Given the description of an element on the screen output the (x, y) to click on. 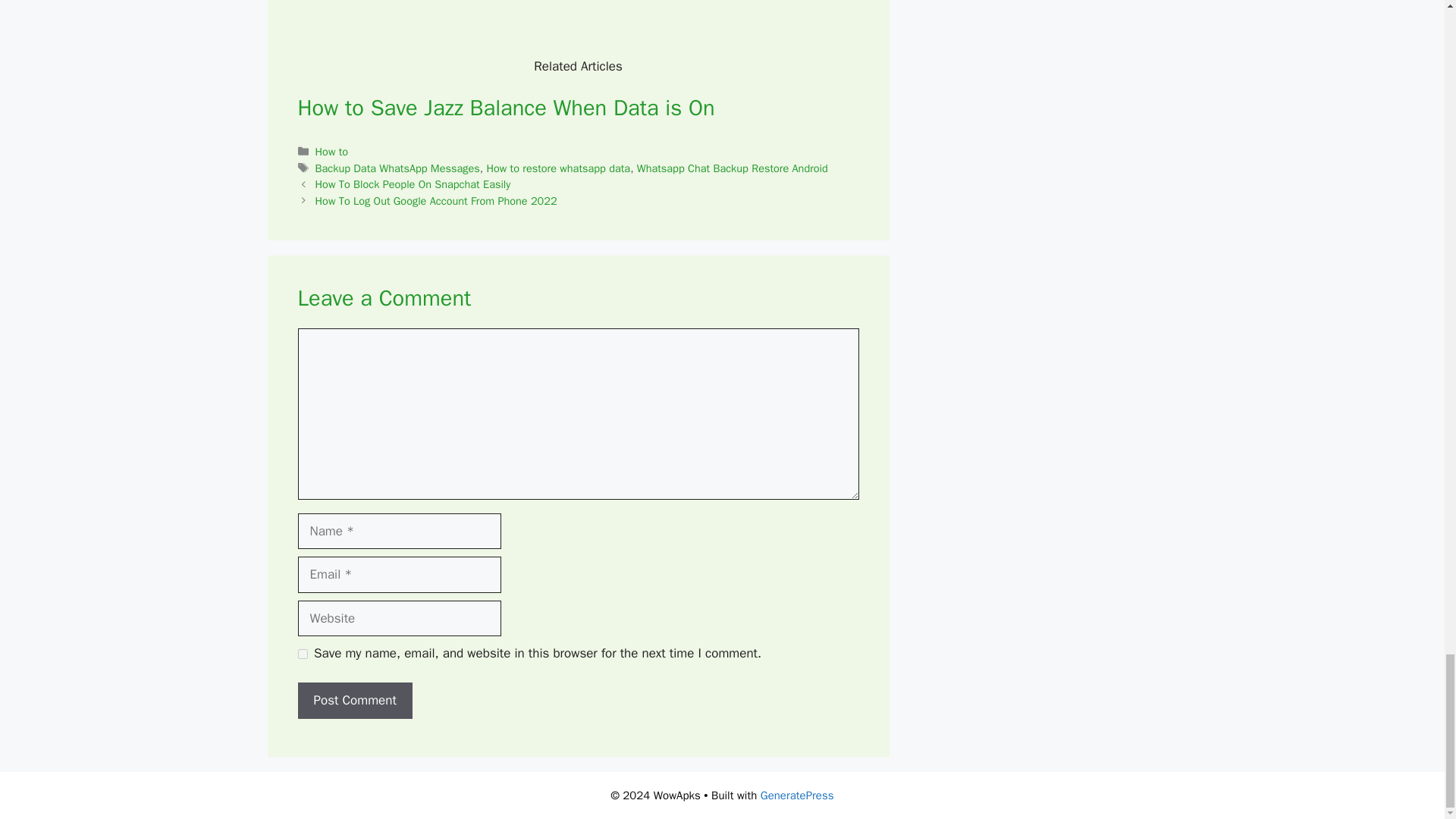
Backup Data WhatsApp Messages (397, 168)
yes (302, 654)
How to Save Jazz Balance When Data is On (505, 108)
Post Comment (354, 700)
How to (332, 151)
